Given the description of an element on the screen output the (x, y) to click on. 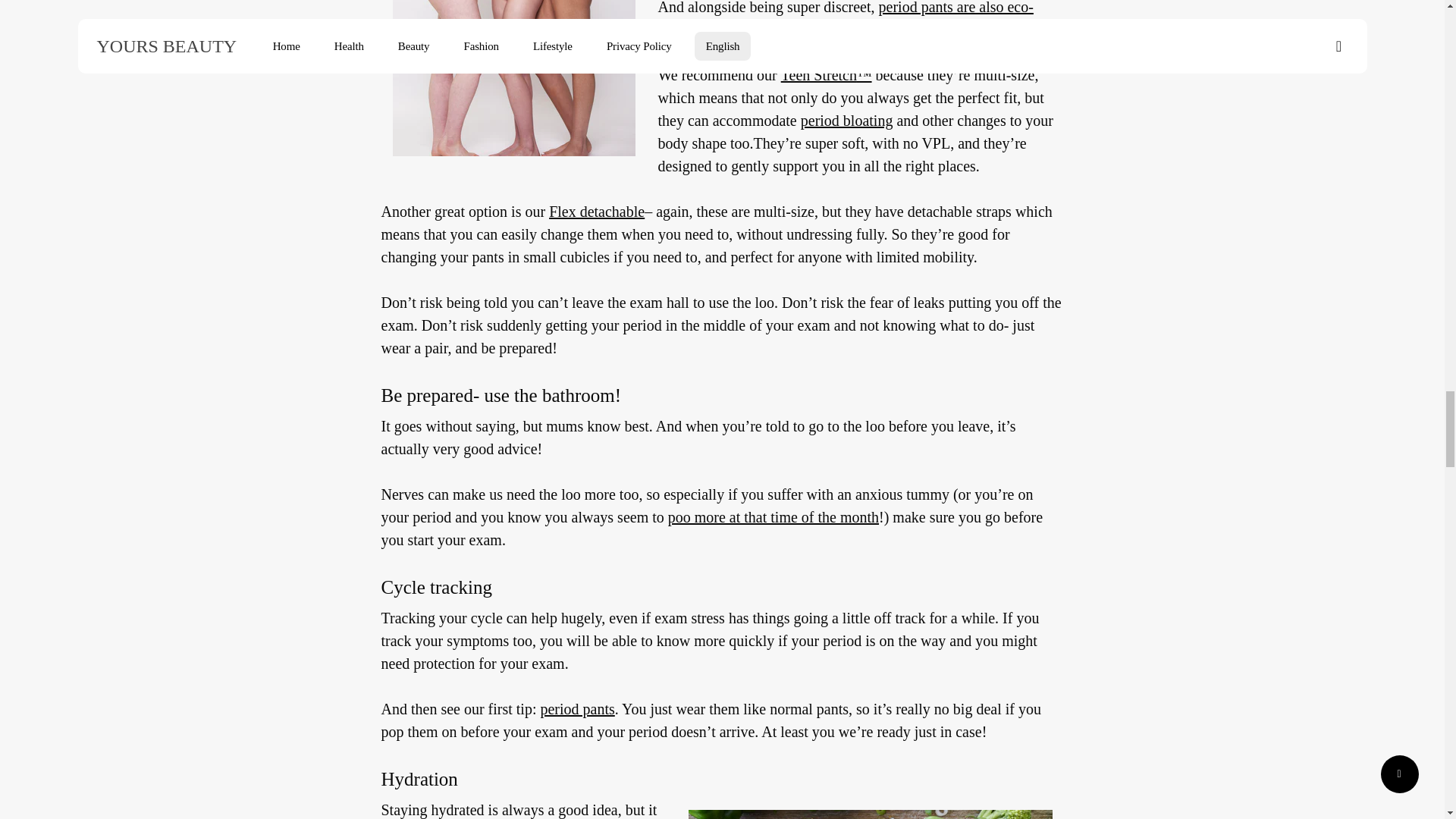
period pants (577, 709)
period pants are also eco-friendly (845, 19)
poo more at that time of the month (773, 516)
Flex detachable (596, 211)
period bloating (846, 120)
